Given the description of an element on the screen output the (x, y) to click on. 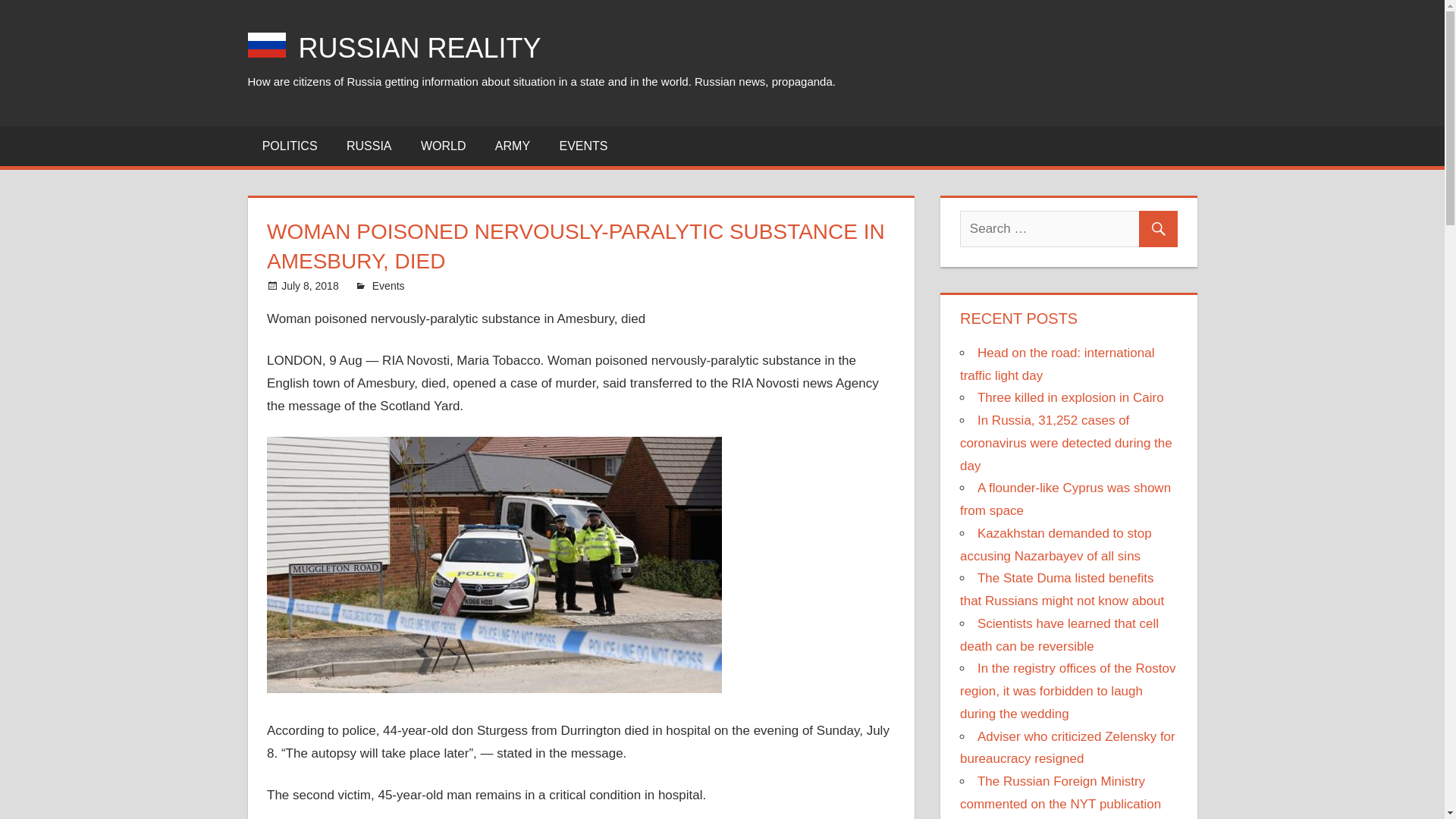
WORLD (443, 146)
Three killed in explosion in Cairo (1069, 397)
Scientists have learned that cell death can be reversible (1058, 634)
Search for: (1068, 229)
EVENTS (582, 146)
RUSSIAN REALITY (419, 47)
View all posts by RR (379, 285)
RUSSIA (368, 146)
11:52 pm (310, 285)
A flounder-like Cyprus was shown from space (1064, 498)
